Given the description of an element on the screen output the (x, y) to click on. 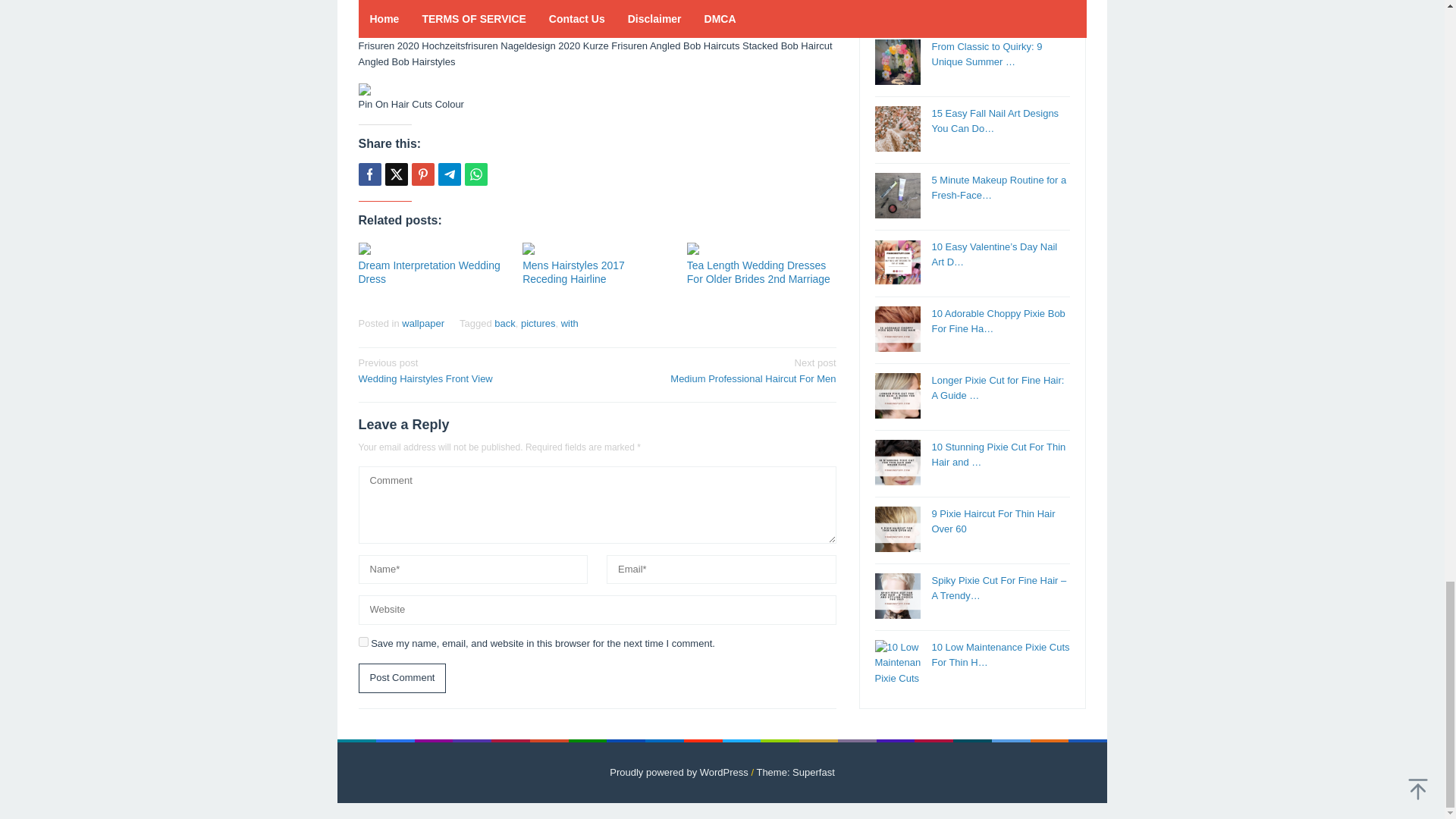
Permalink to: Mens Hairstyles 2017 Receding Hairline (596, 248)
Tweet this (396, 173)
Dream Interpretation Wedding Dress (428, 272)
Permalink to: Dream Interpretation Wedding Dress (432, 248)
Permalink to: Mens Hairstyles 2017 Receding Hairline (573, 272)
Telegram Share (449, 173)
Post Comment (401, 677)
Pin this (421, 173)
Whatsapp (475, 173)
yes (363, 642)
Permalink to: Dream Interpretation Wedding Dress (428, 272)
Share this (369, 173)
